Given the description of an element on the screen output the (x, y) to click on. 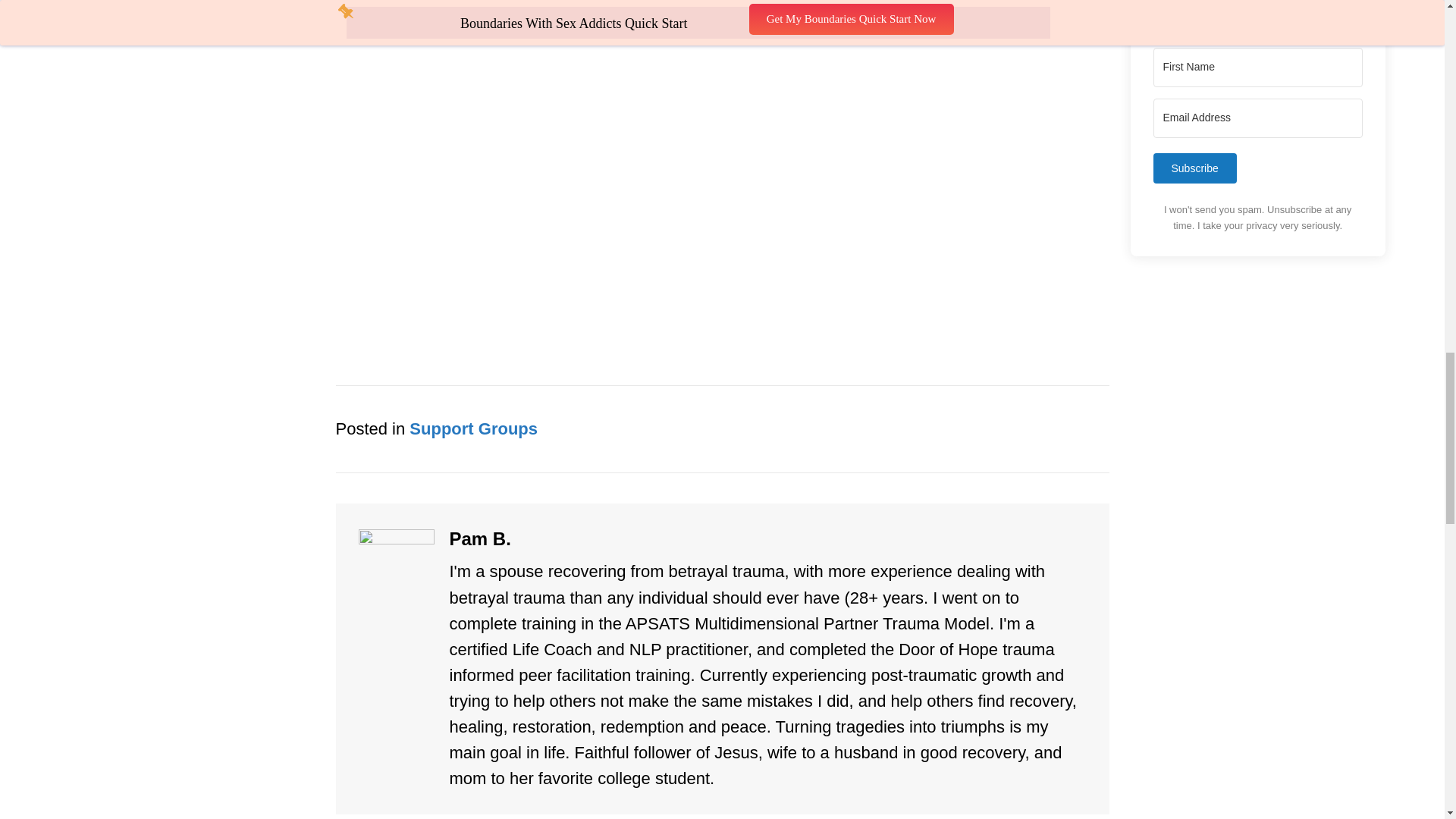
Subscribe (1194, 168)
Support Groups (473, 428)
